Given the description of an element on the screen output the (x, y) to click on. 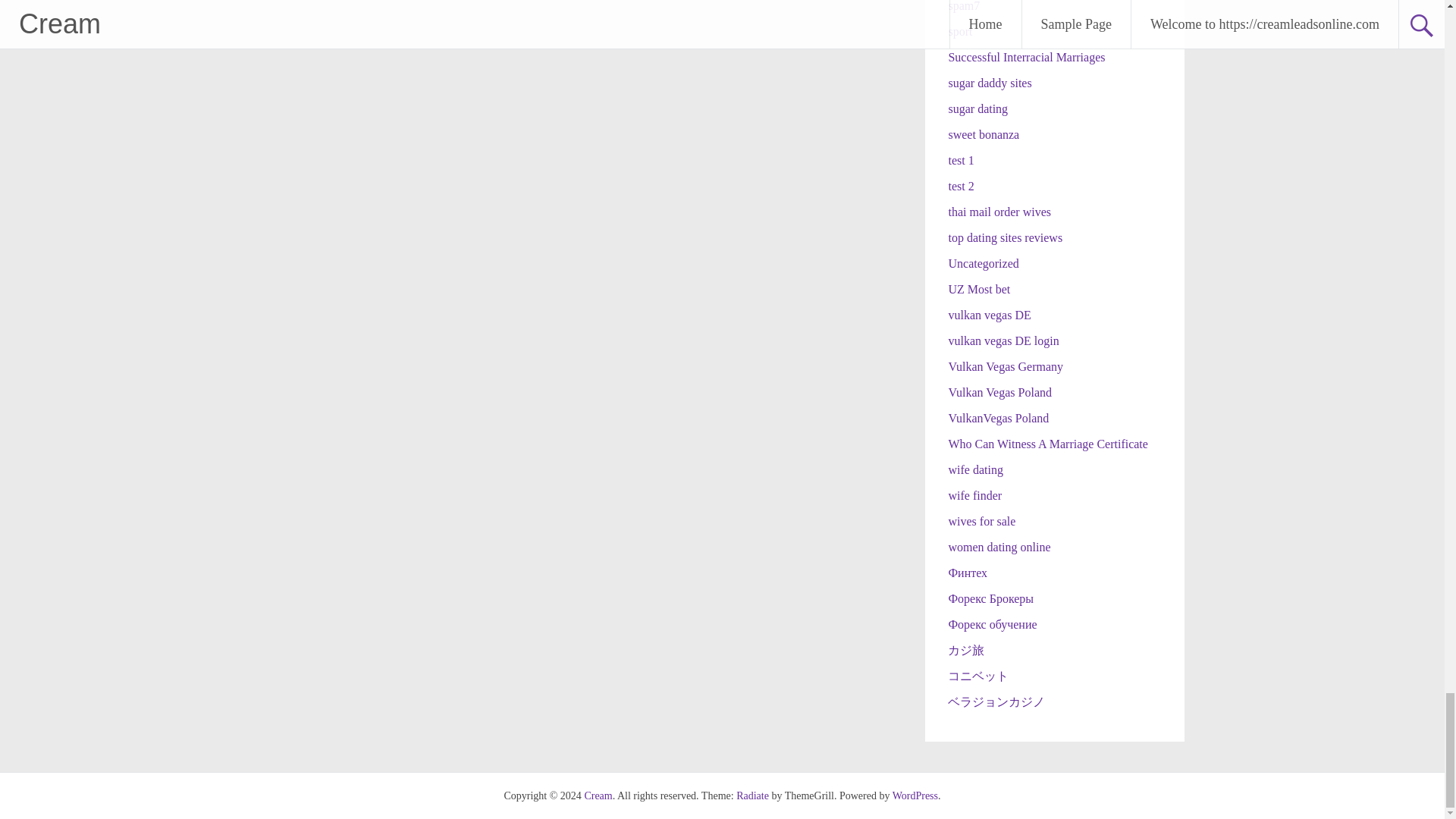
Cream (597, 795)
WordPress (914, 795)
Radiate (752, 795)
